Given the description of an element on the screen output the (x, y) to click on. 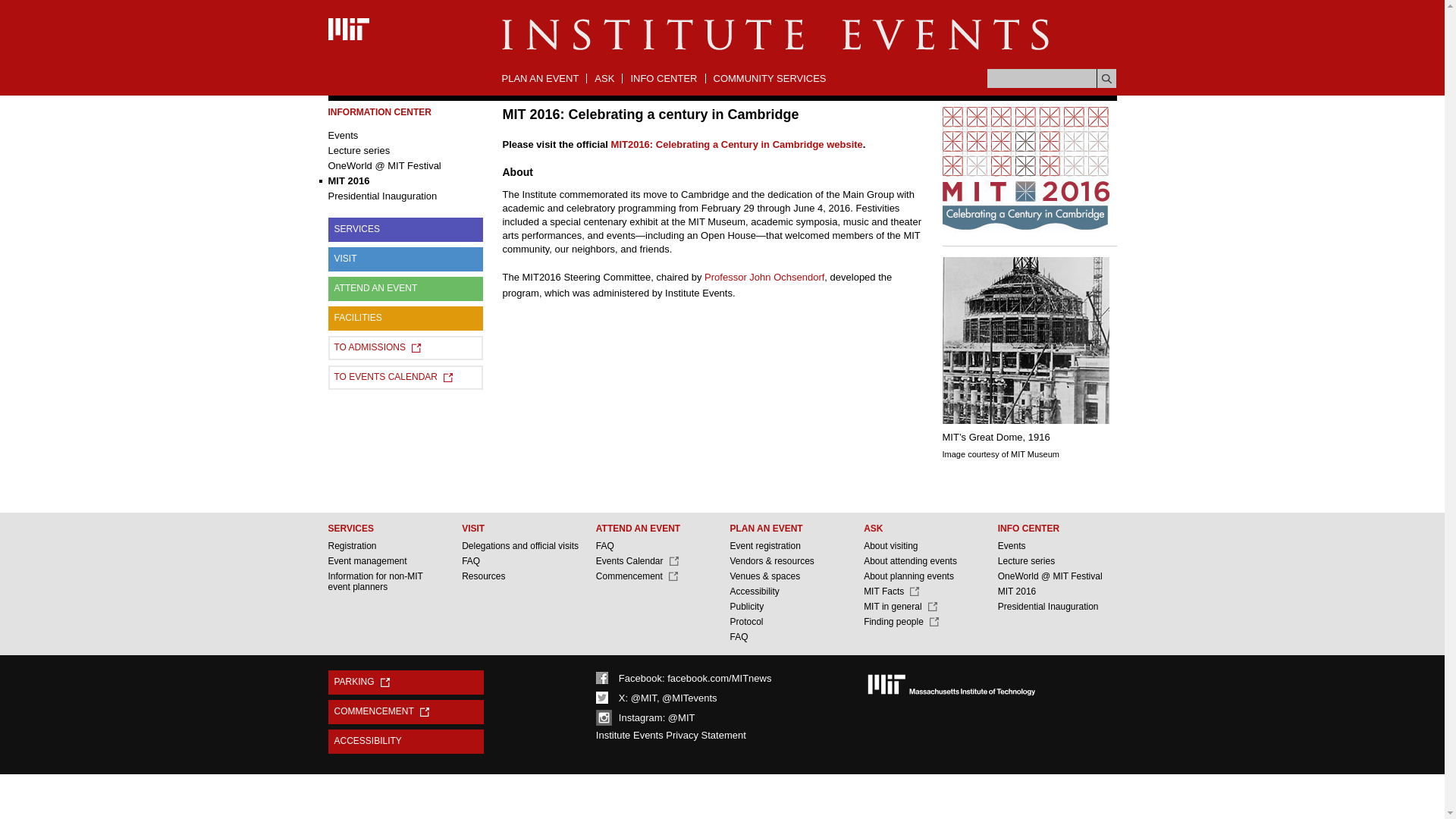
Go (1106, 77)
MIT home (347, 37)
MIT Institute Events home (775, 48)
